Given the description of an element on the screen output the (x, y) to click on. 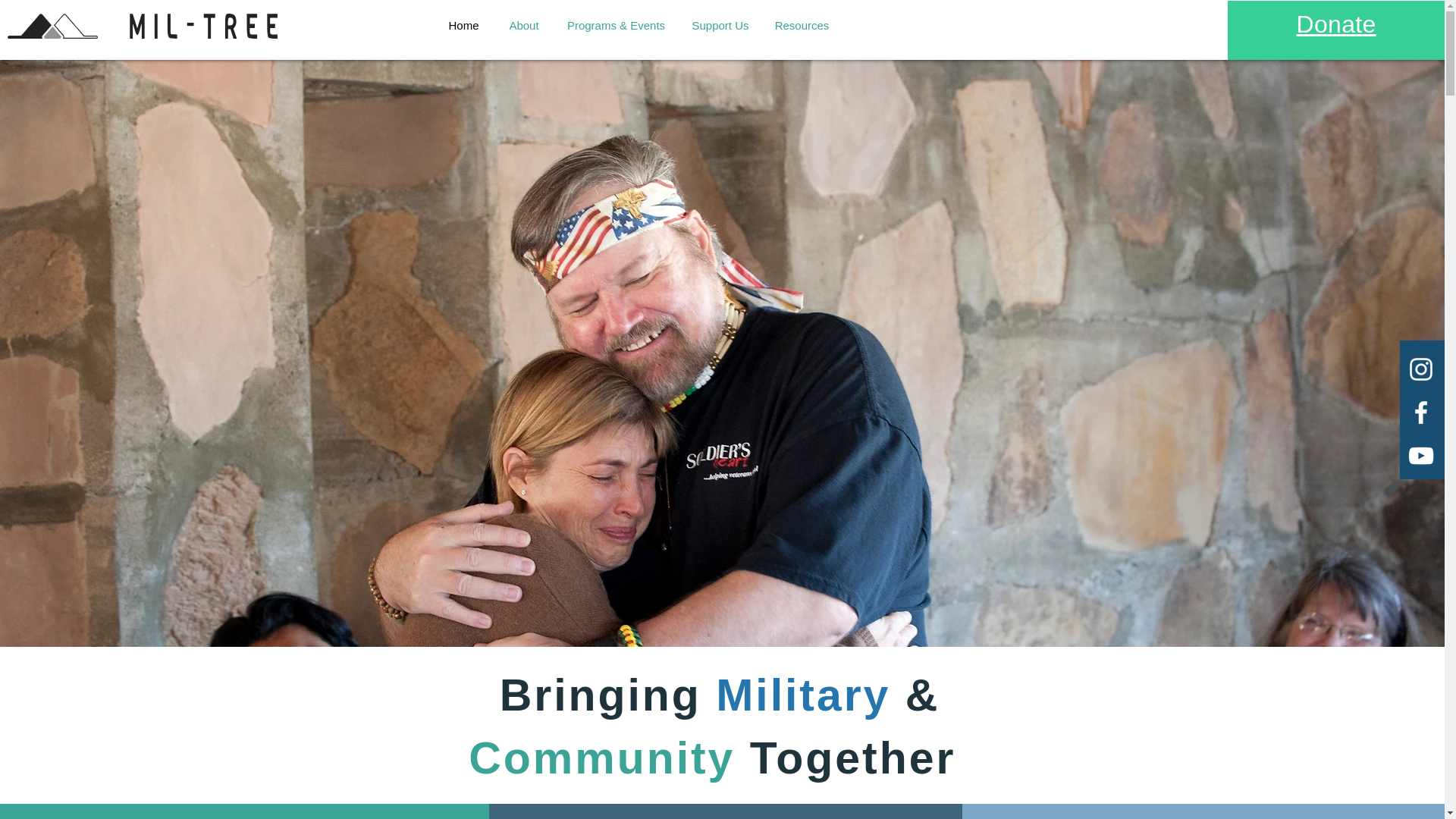
Donate (1336, 23)
Home (464, 25)
Resources (801, 25)
About (524, 25)
Support Us (719, 25)
